Given the description of an element on the screen output the (x, y) to click on. 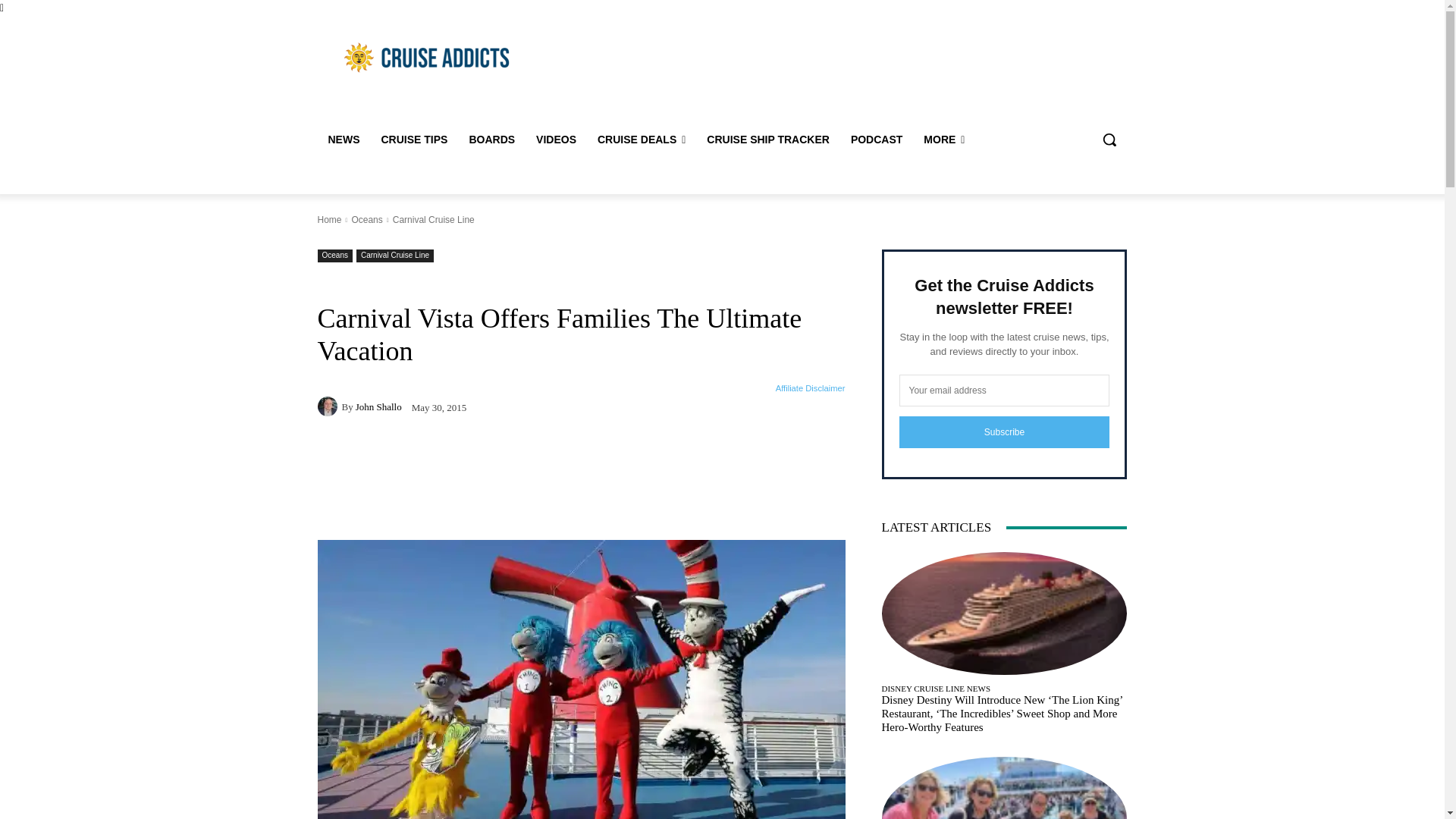
Videos (555, 139)
VIDEOS (555, 139)
Cruise Tips (413, 139)
BOARDS (491, 139)
NEWS (343, 139)
CRUISE DEALS (640, 139)
News (343, 139)
CRUISE TIPS (413, 139)
